Given the description of an element on the screen output the (x, y) to click on. 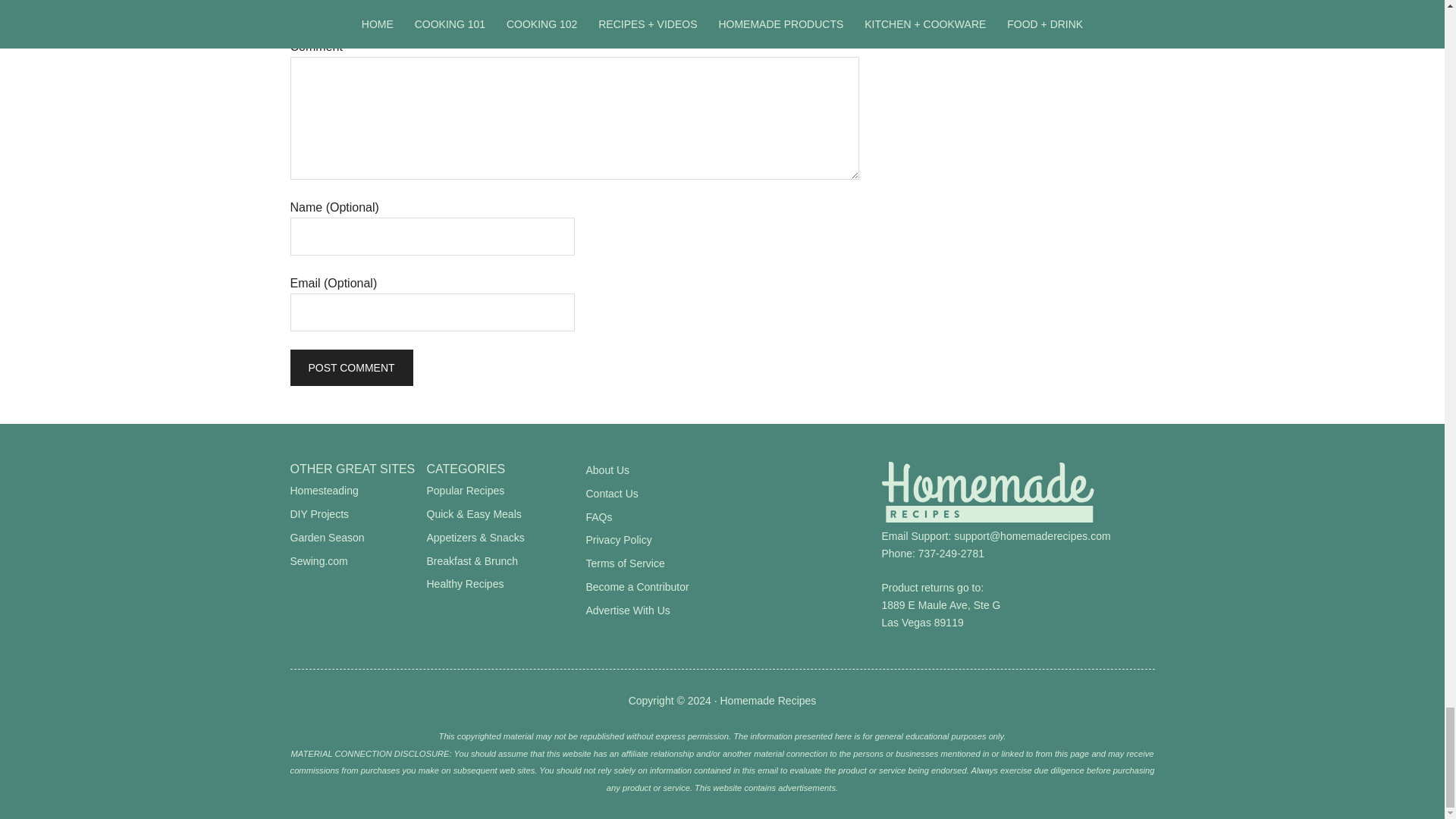
Post Comment (350, 367)
